Given the description of an element on the screen output the (x, y) to click on. 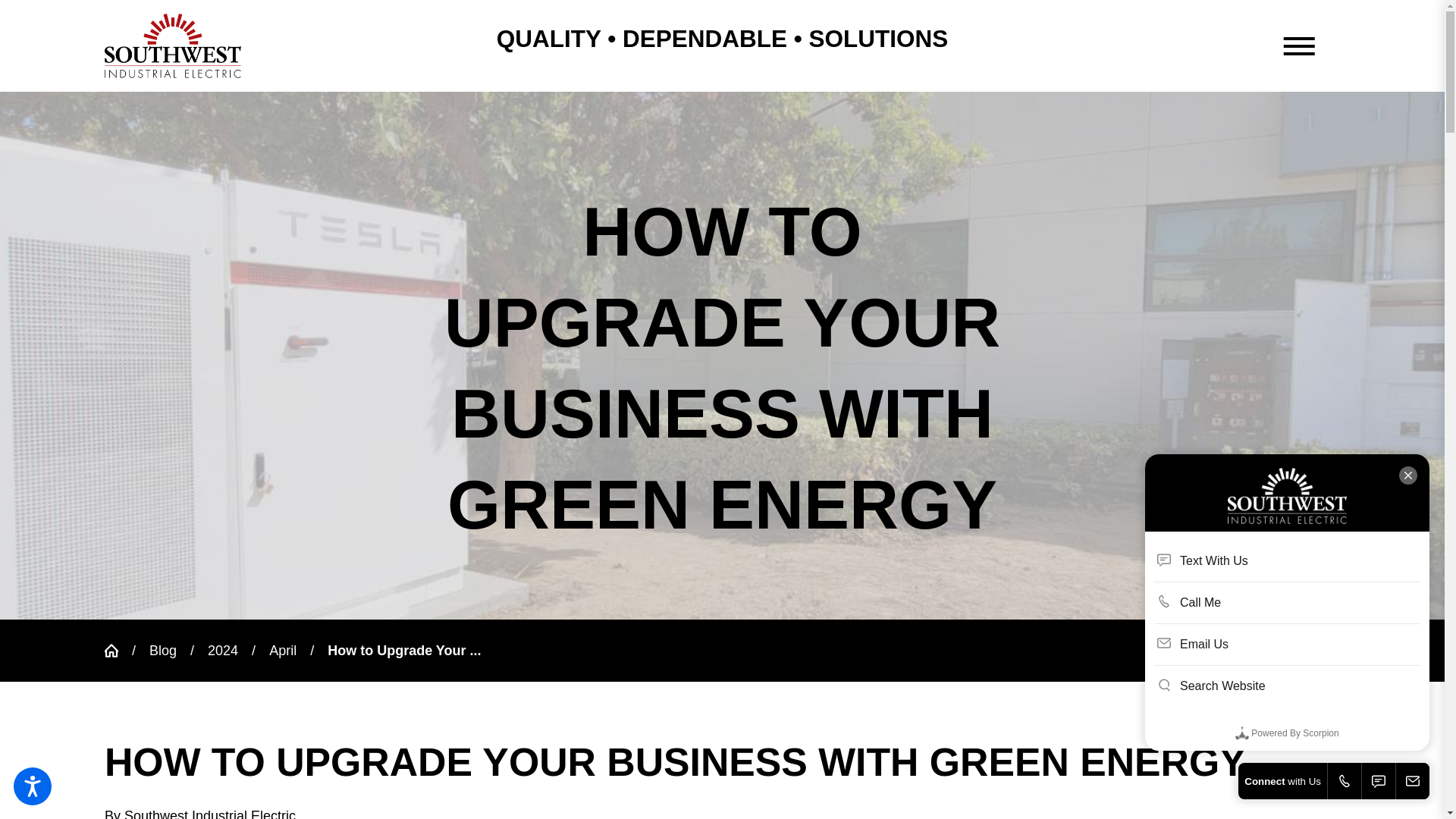
Go Home (118, 650)
Southwest Industrial Electric (172, 45)
Main Menu (1298, 45)
Open the accessibility options menu (31, 786)
